Given the description of an element on the screen output the (x, y) to click on. 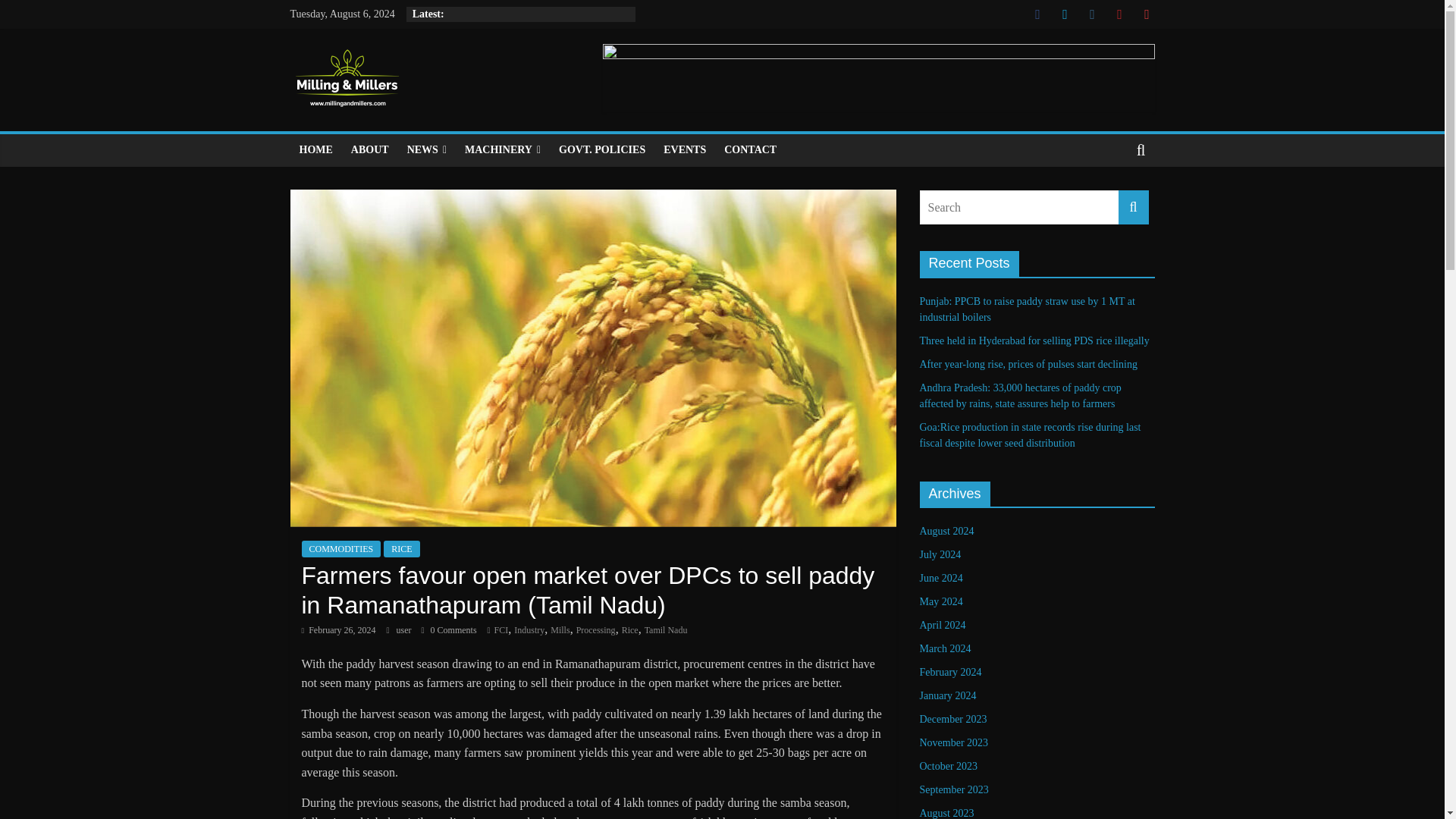
0 Comments (449, 629)
COMMODITIES (341, 548)
MACHINERY (502, 150)
EVENTS (683, 150)
Mills (559, 629)
CONTACT (750, 150)
Rice (630, 629)
GOVT. POLICIES (601, 150)
RICE (401, 548)
Industry (528, 629)
February 26, 2024 (338, 629)
NEWS (426, 150)
ABOUT (369, 150)
user (404, 629)
user (404, 629)
